Given the description of an element on the screen output the (x, y) to click on. 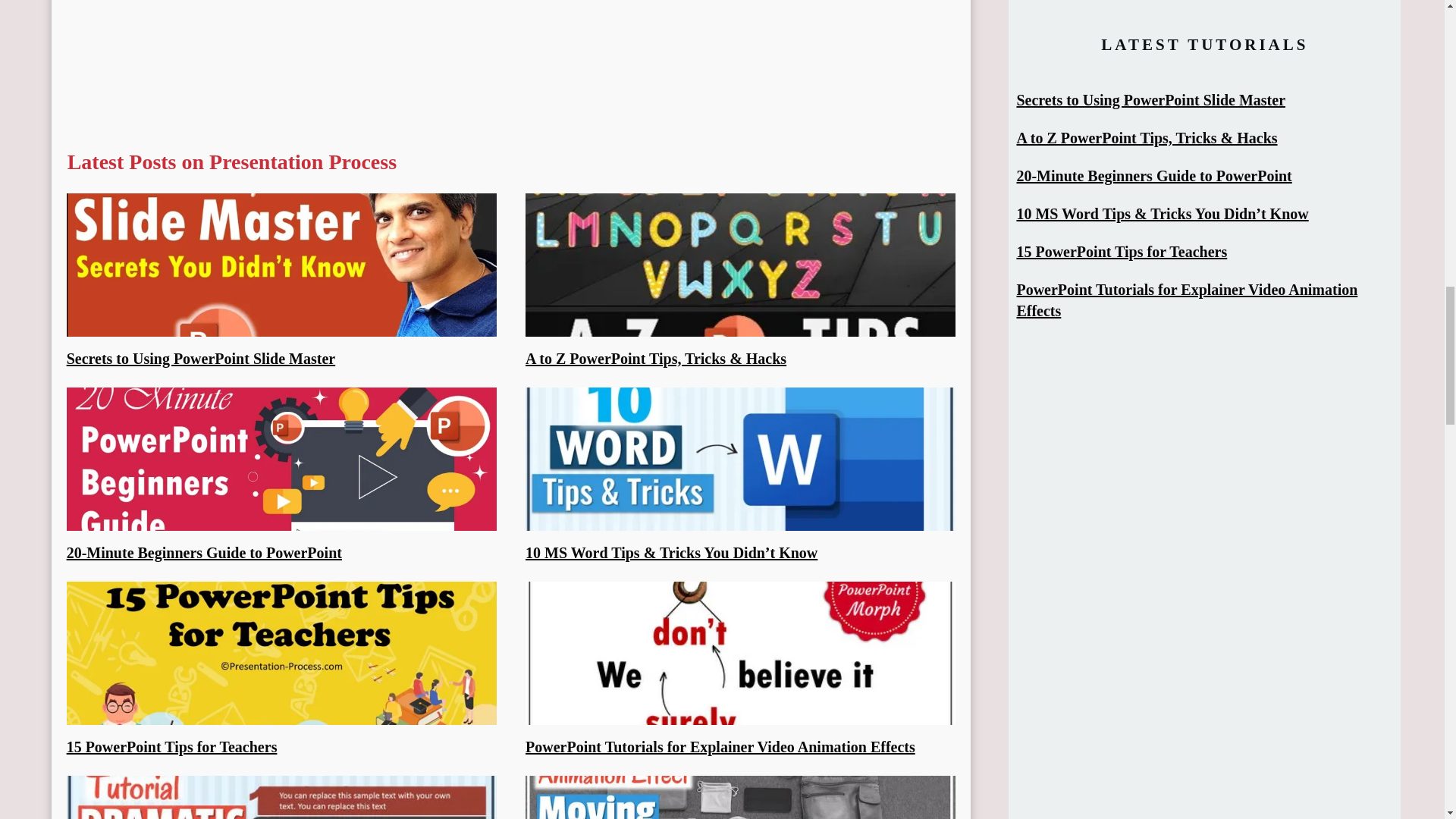
Secrets to Using PowerPoint Slide Master (201, 358)
20-Minute Beginners Guide to PowerPoint (204, 552)
Secrets to Using PowerPoint Slide Master (201, 358)
15 PowerPoint Tips for Teachers (172, 746)
PowerPoint Tutorials for Explainer Video Animation Effects (720, 746)
15 PowerPoint Tips for Teachers (172, 746)
PowerPoint Tutorials for Explainer Video Animation Effects (720, 746)
20-Minute Beginners Guide to PowerPoint (204, 552)
